Given the description of an element on the screen output the (x, y) to click on. 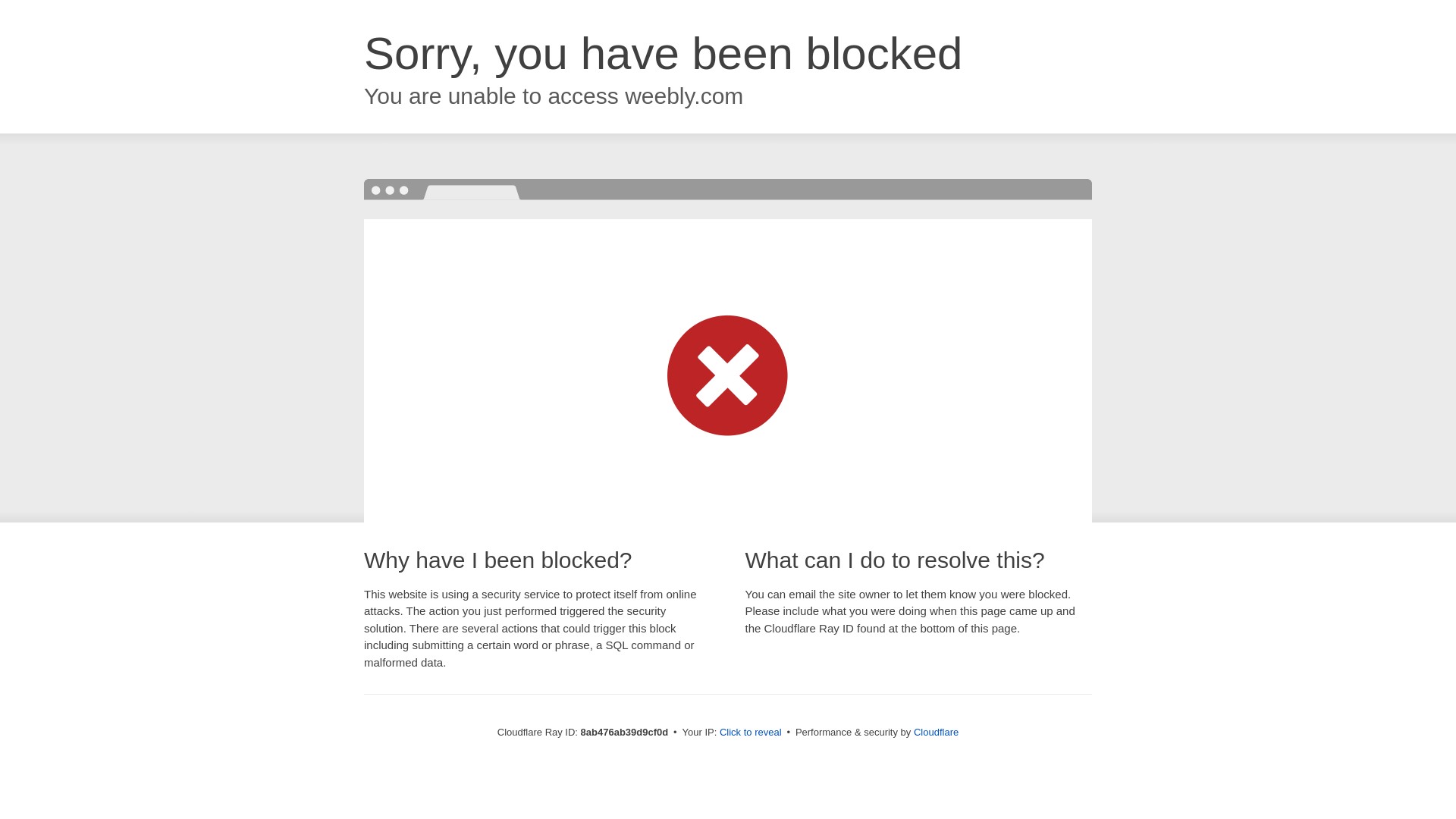
Click to reveal (750, 732)
Cloudflare (936, 731)
